Given the description of an element on the screen output the (x, y) to click on. 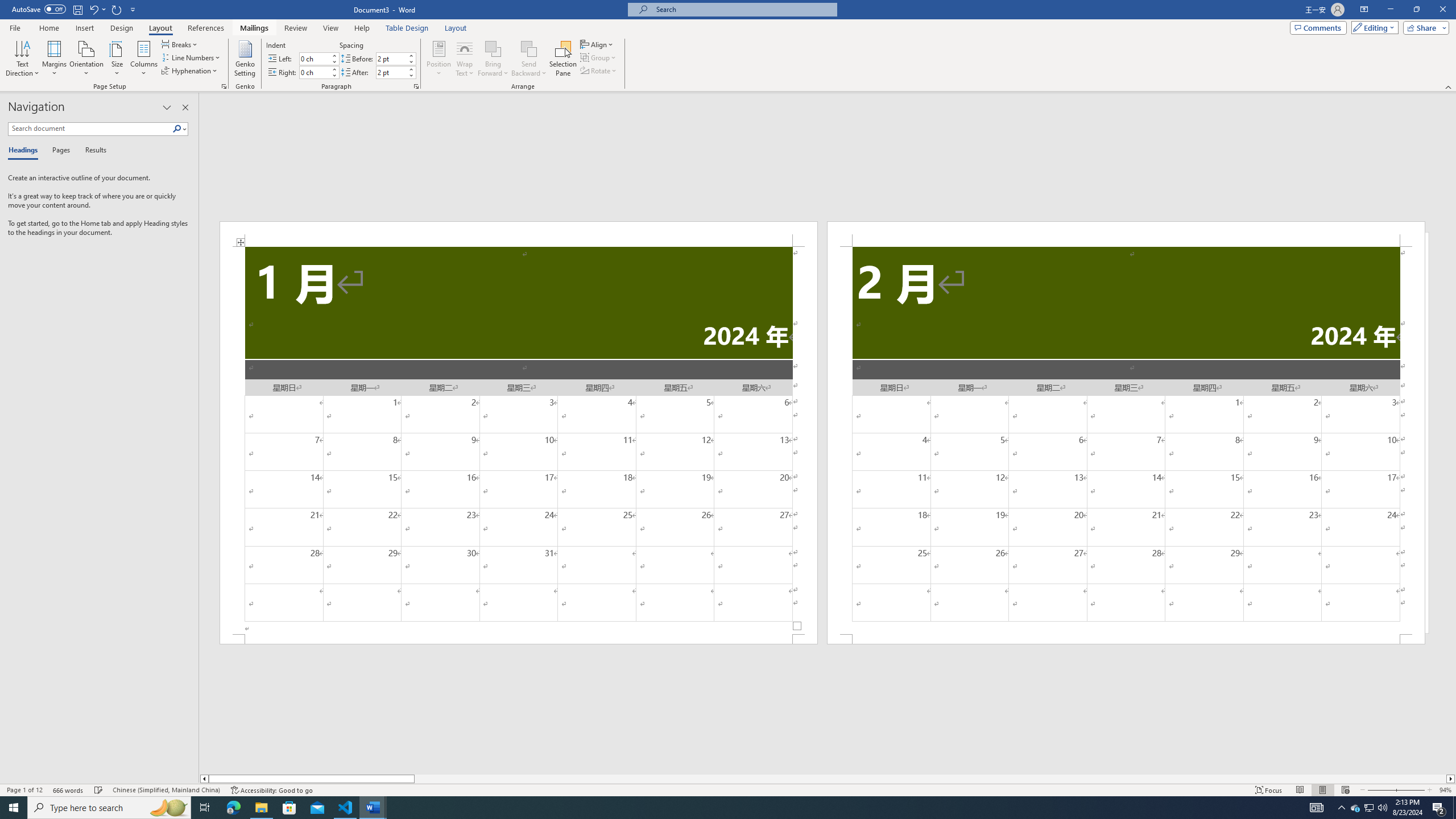
Genko Setting... (244, 58)
Margins (54, 58)
Mailings (253, 28)
Spelling and Grammar Check Checking (98, 790)
Page 2 content (1126, 439)
Pages (59, 150)
Microsoft search (742, 9)
Undo Increase Indent (92, 9)
Layout (455, 28)
System (6, 6)
Undo Increase Indent (96, 9)
Results (91, 150)
Line Numbers (191, 56)
Header -Section 1- (518, 233)
